Given the description of an element on the screen output the (x, y) to click on. 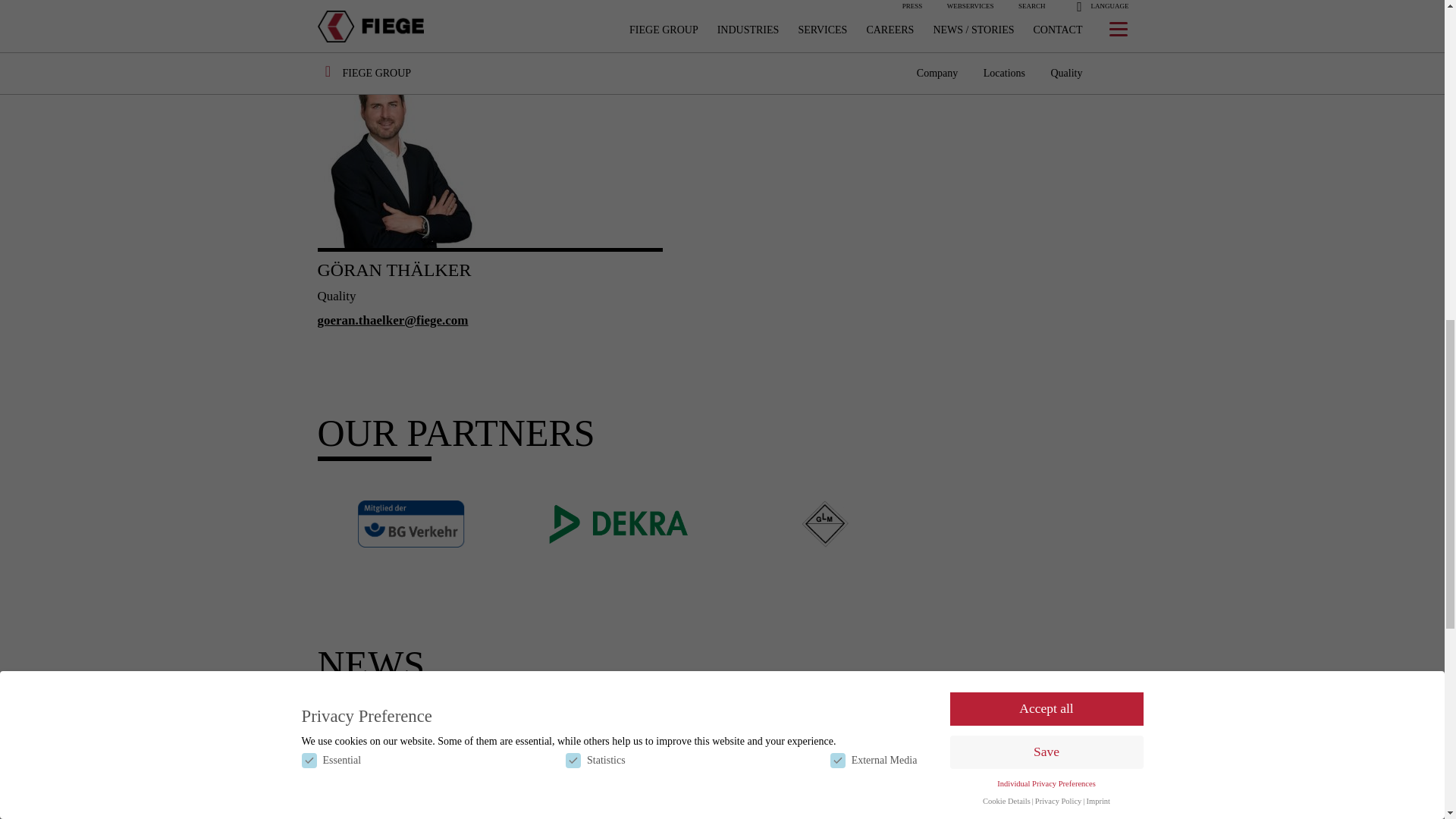
bg-verkehr (411, 523)
dekra (618, 523)
glm (825, 523)
